Given the description of an element on the screen output the (x, y) to click on. 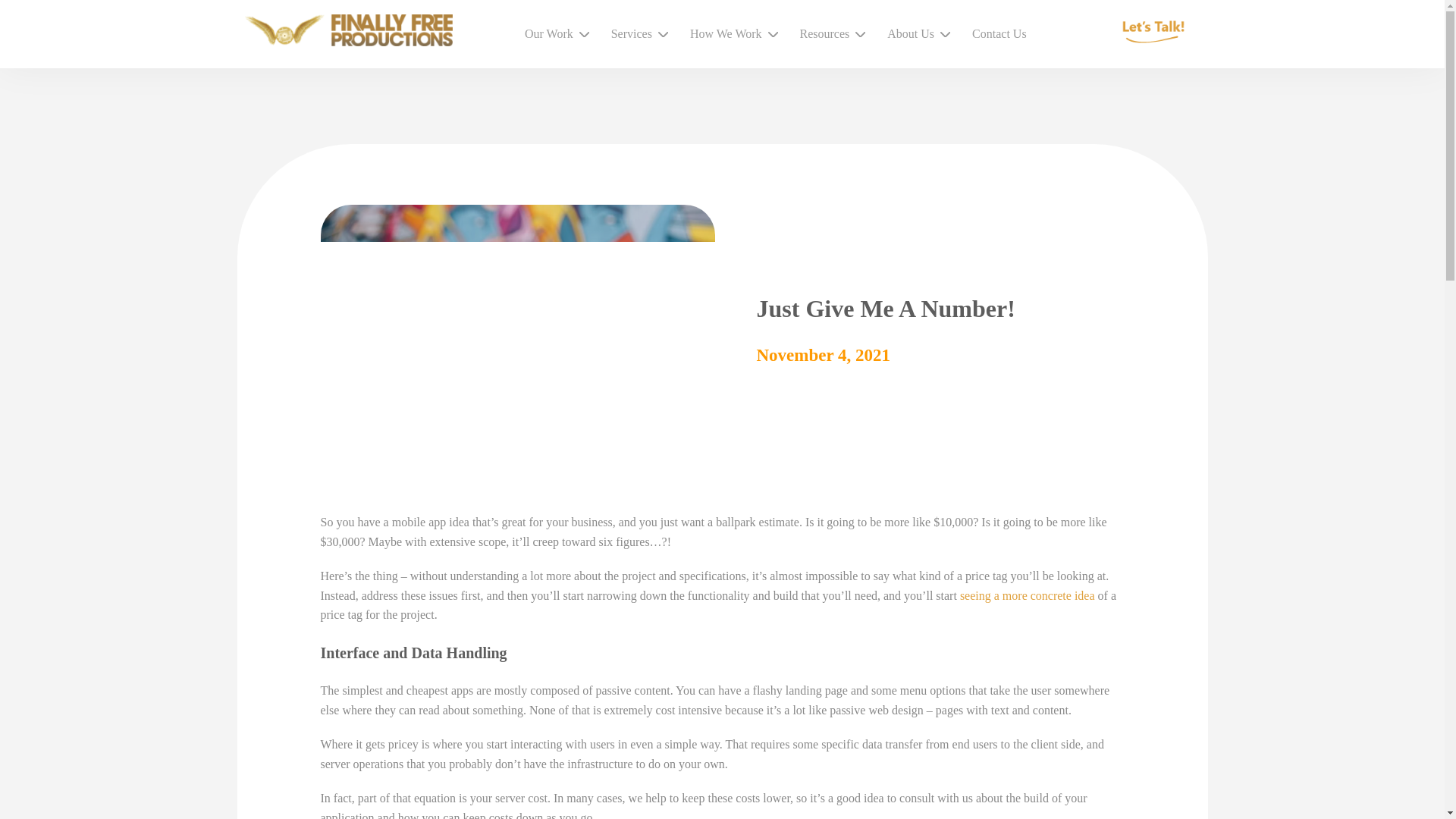
seeing a more concrete idea (1026, 594)
November 4, 2021 (824, 355)
Our Work (549, 33)
Contact Us (999, 33)
Services (631, 33)
How We Work (725, 33)
About Us (910, 33)
Resources (825, 33)
